Given the description of an element on the screen output the (x, y) to click on. 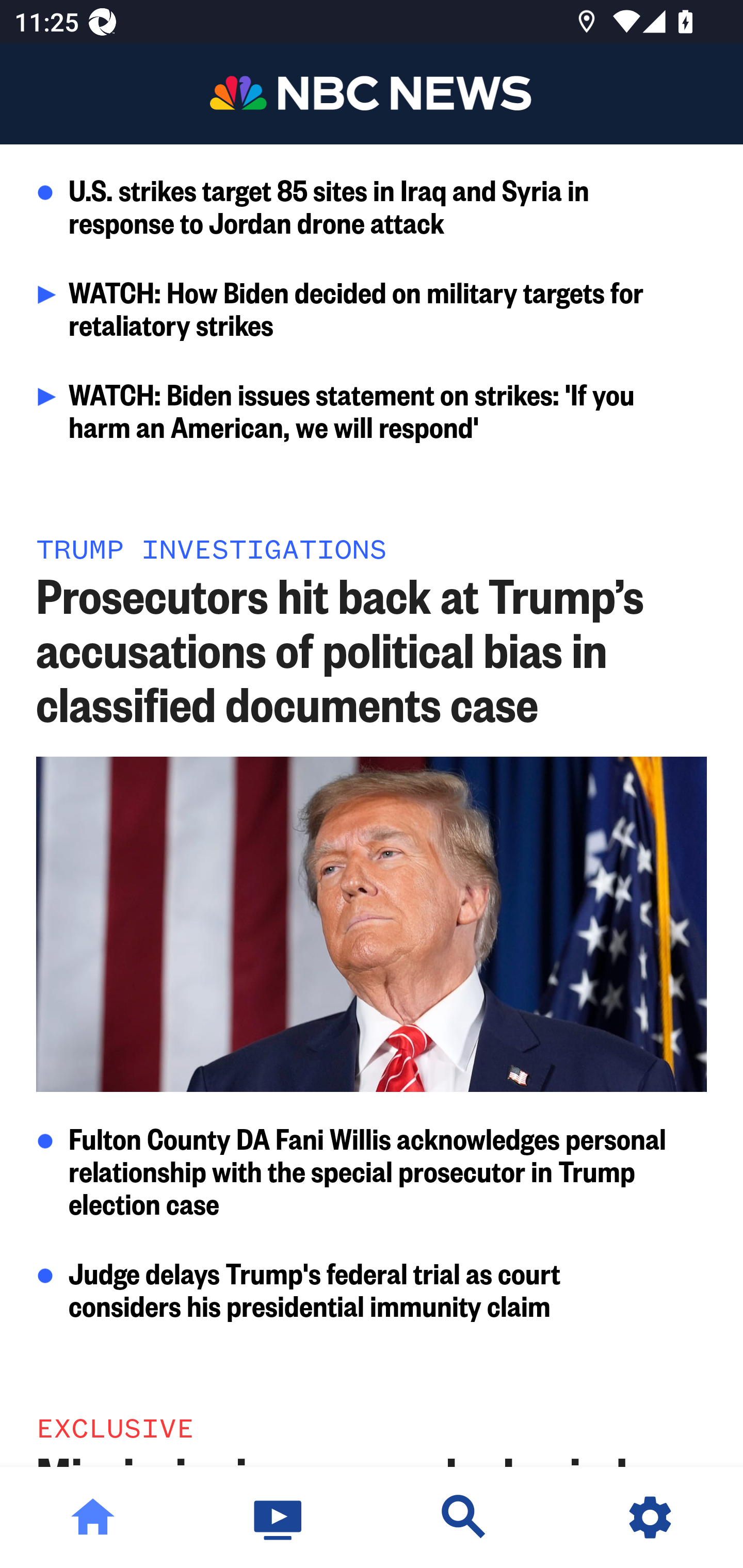
Watch (278, 1517)
Discover (464, 1517)
Settings (650, 1517)
